Given the description of an element on the screen output the (x, y) to click on. 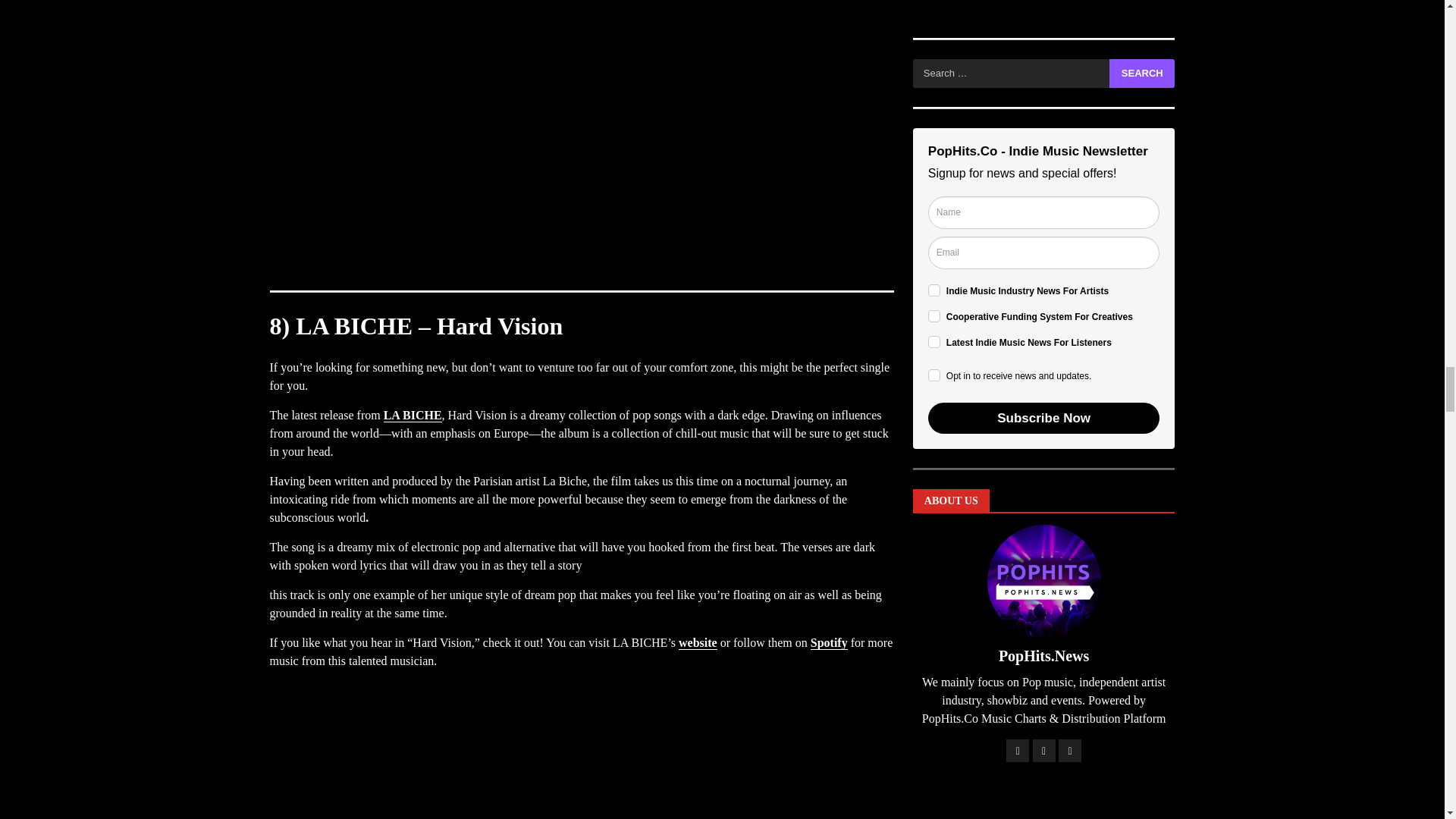
Spotify Embed: La Biche (581, 765)
